Given the description of an element on the screen output the (x, y) to click on. 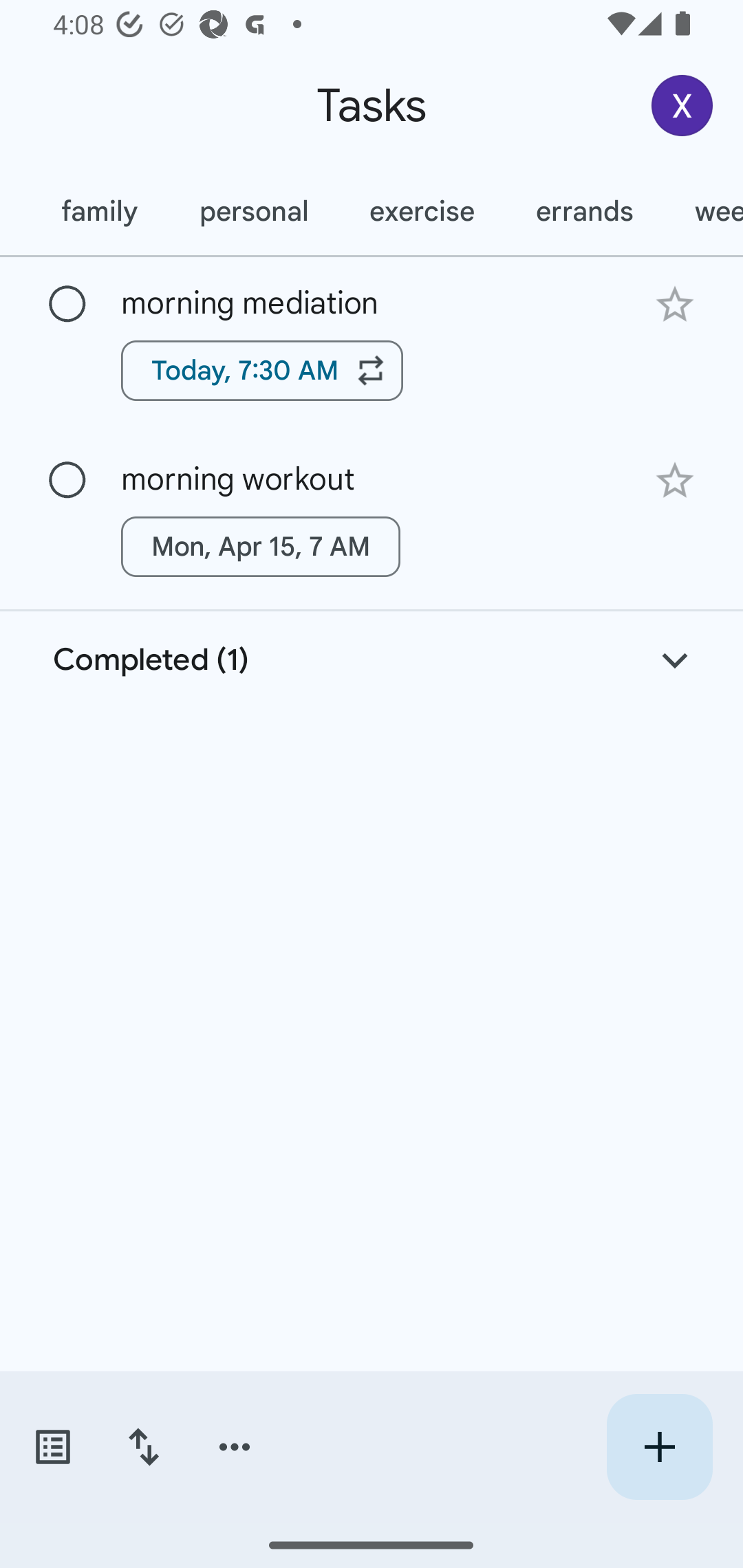
family (99, 211)
personal (253, 211)
exercise (421, 211)
errands (584, 211)
weekend (703, 211)
Add star (674, 303)
Mark as complete (67, 304)
Today, 7:30 AM (262, 369)
Add star (674, 480)
Mark as complete (67, 480)
Mon, Apr 15, 7 AM (260, 546)
Completed (1) (371, 660)
Switch task lists (52, 1447)
Create new task (659, 1446)
Change sort order (143, 1446)
More options (234, 1446)
